Given the description of an element on the screen output the (x, y) to click on. 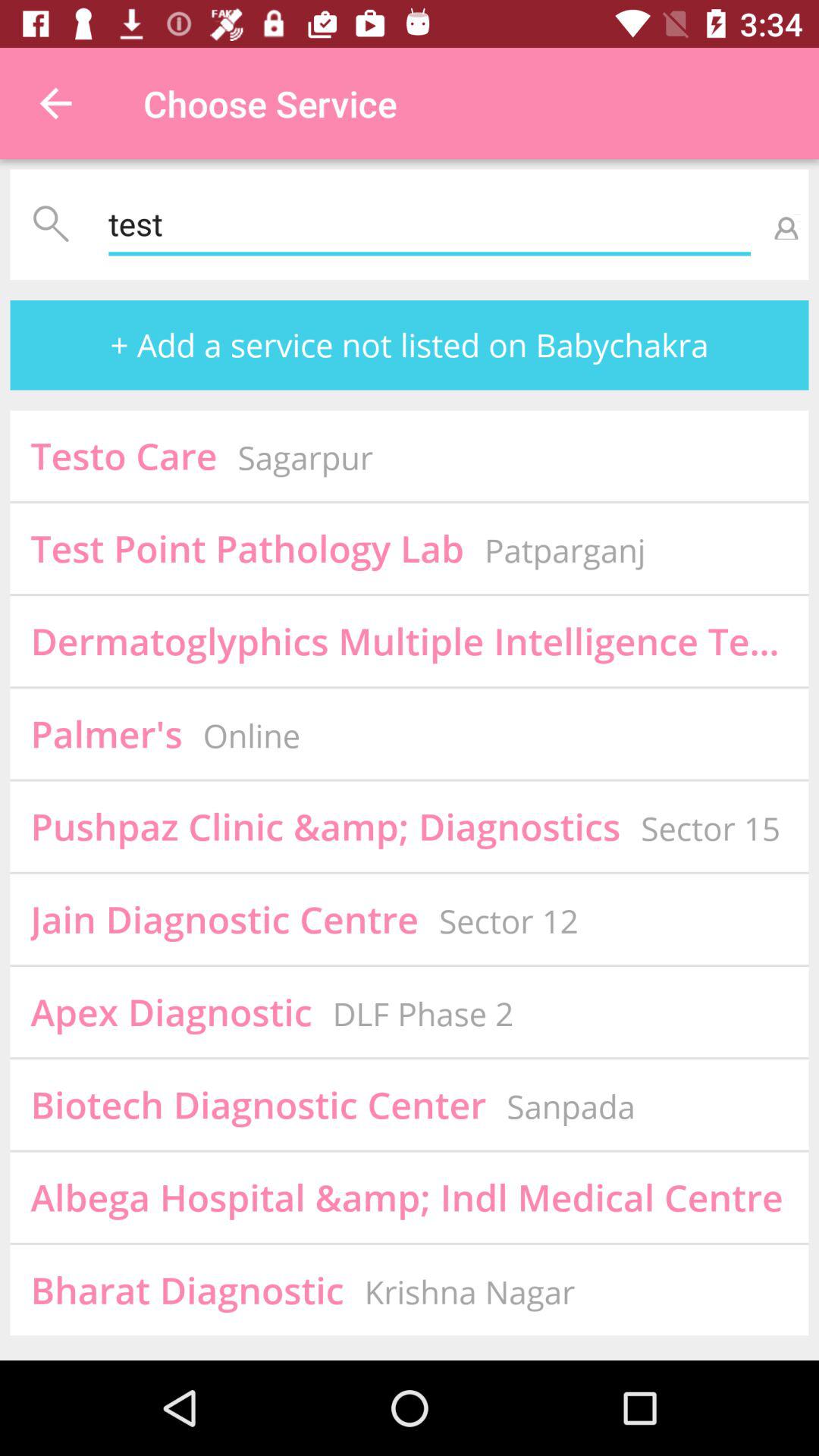
press online item (251, 735)
